Given the description of an element on the screen output the (x, y) to click on. 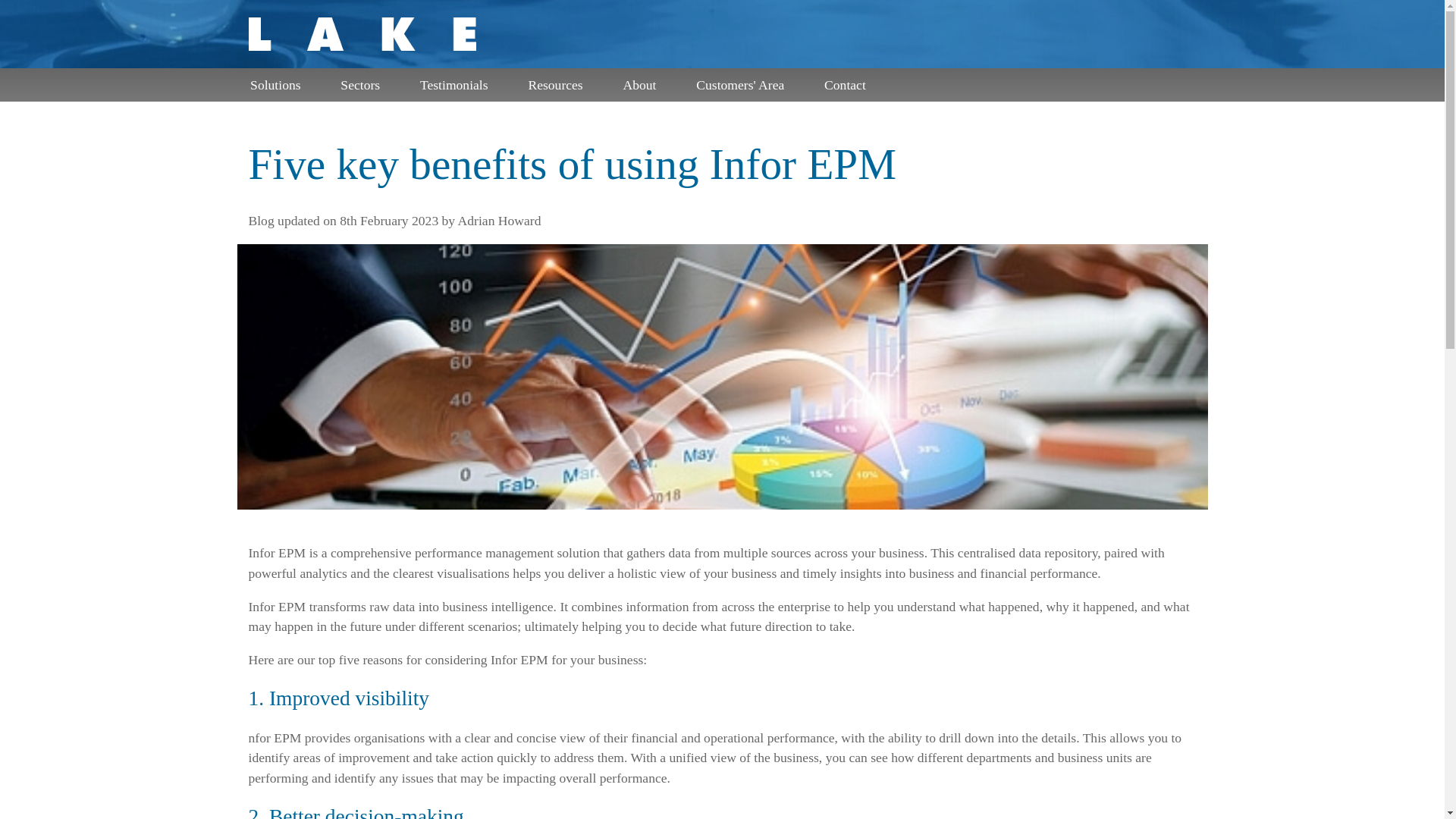
Solutions (280, 84)
Sectors (367, 84)
Testimonials (459, 84)
Resources (562, 84)
